Given the description of an element on the screen output the (x, y) to click on. 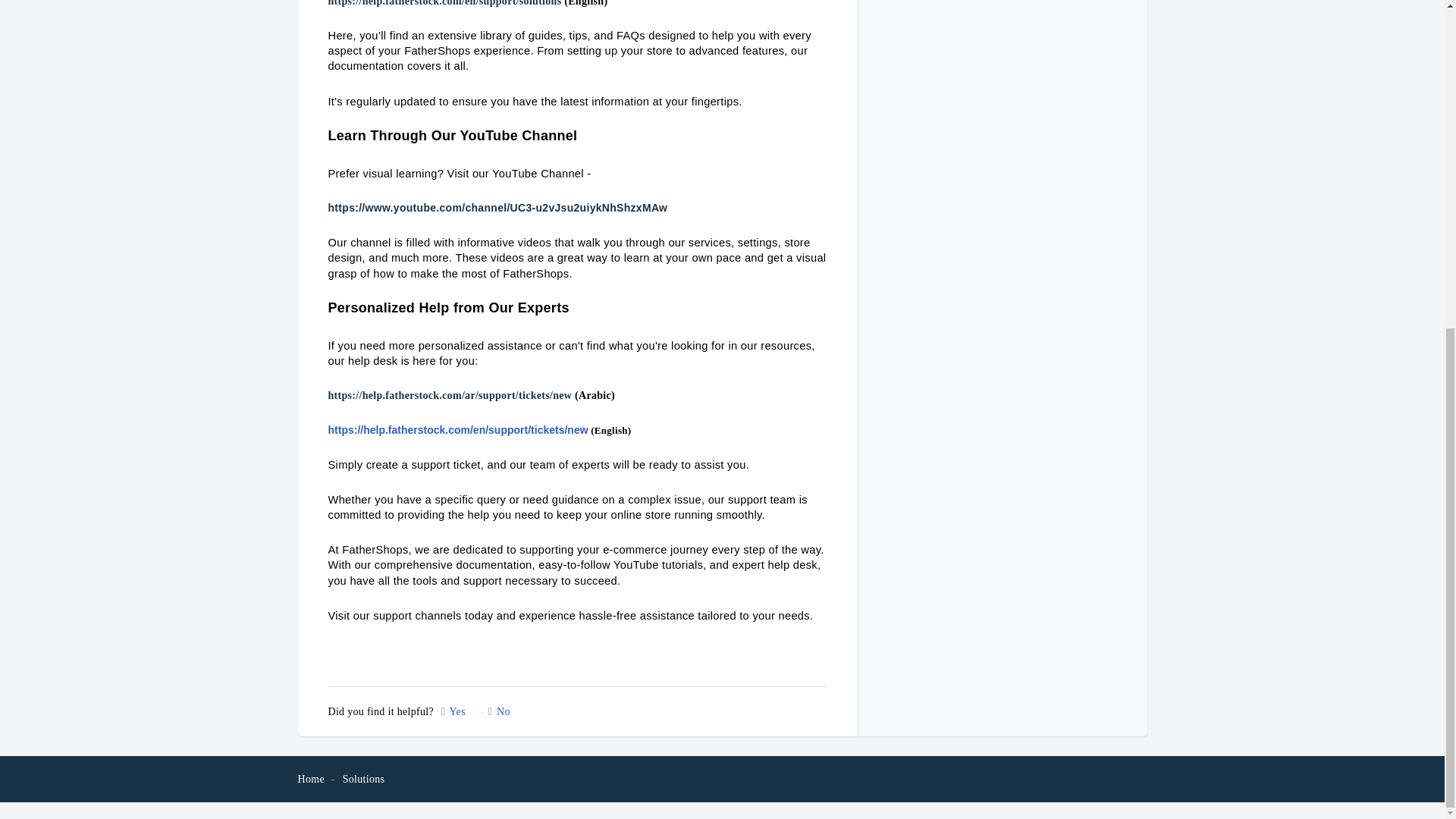
Solutions (363, 778)
Home (310, 778)
